Given the description of an element on the screen output the (x, y) to click on. 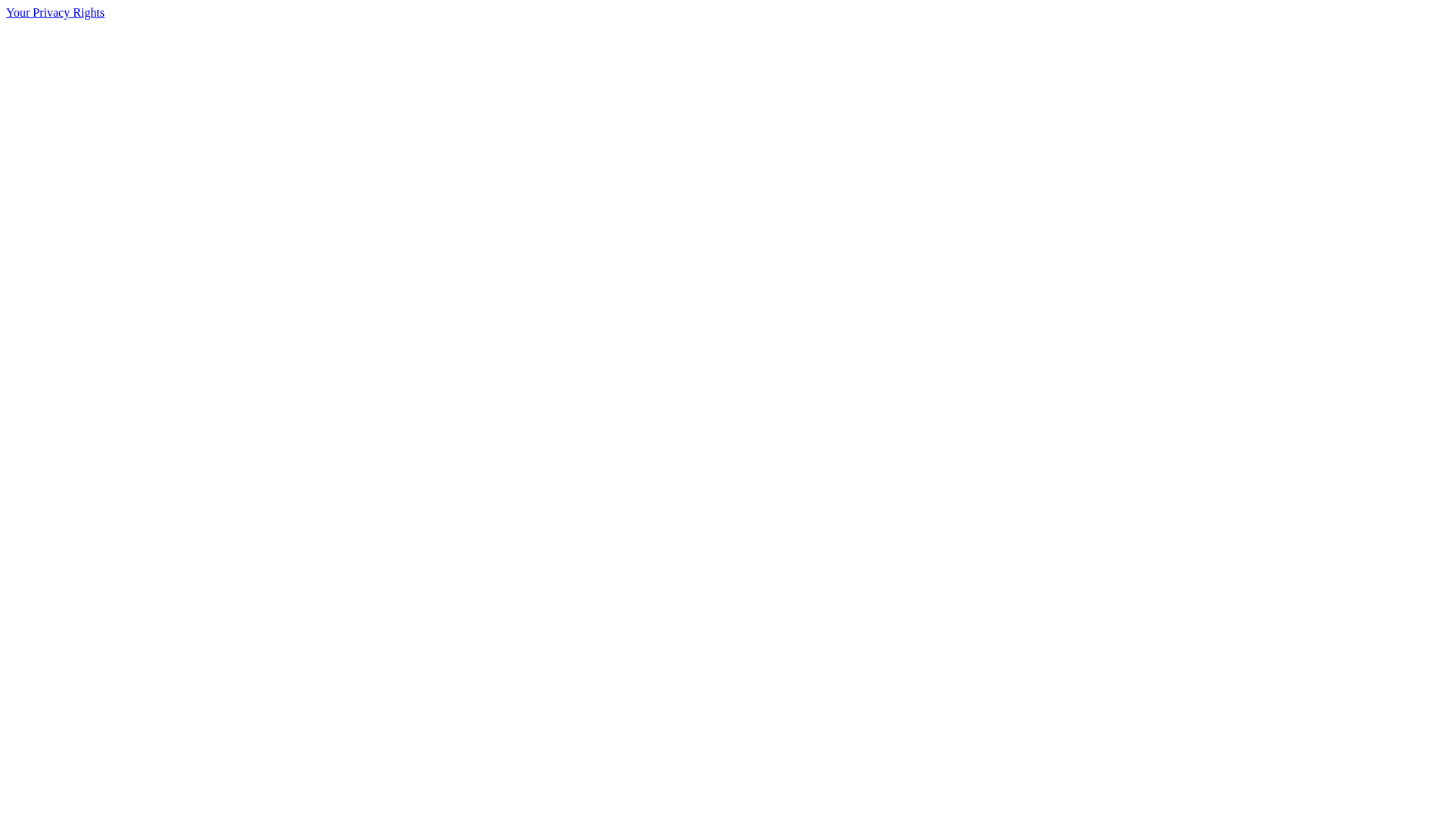
Your Privacy Rights Element type: text (55, 12)
